Given the description of an element on the screen output the (x, y) to click on. 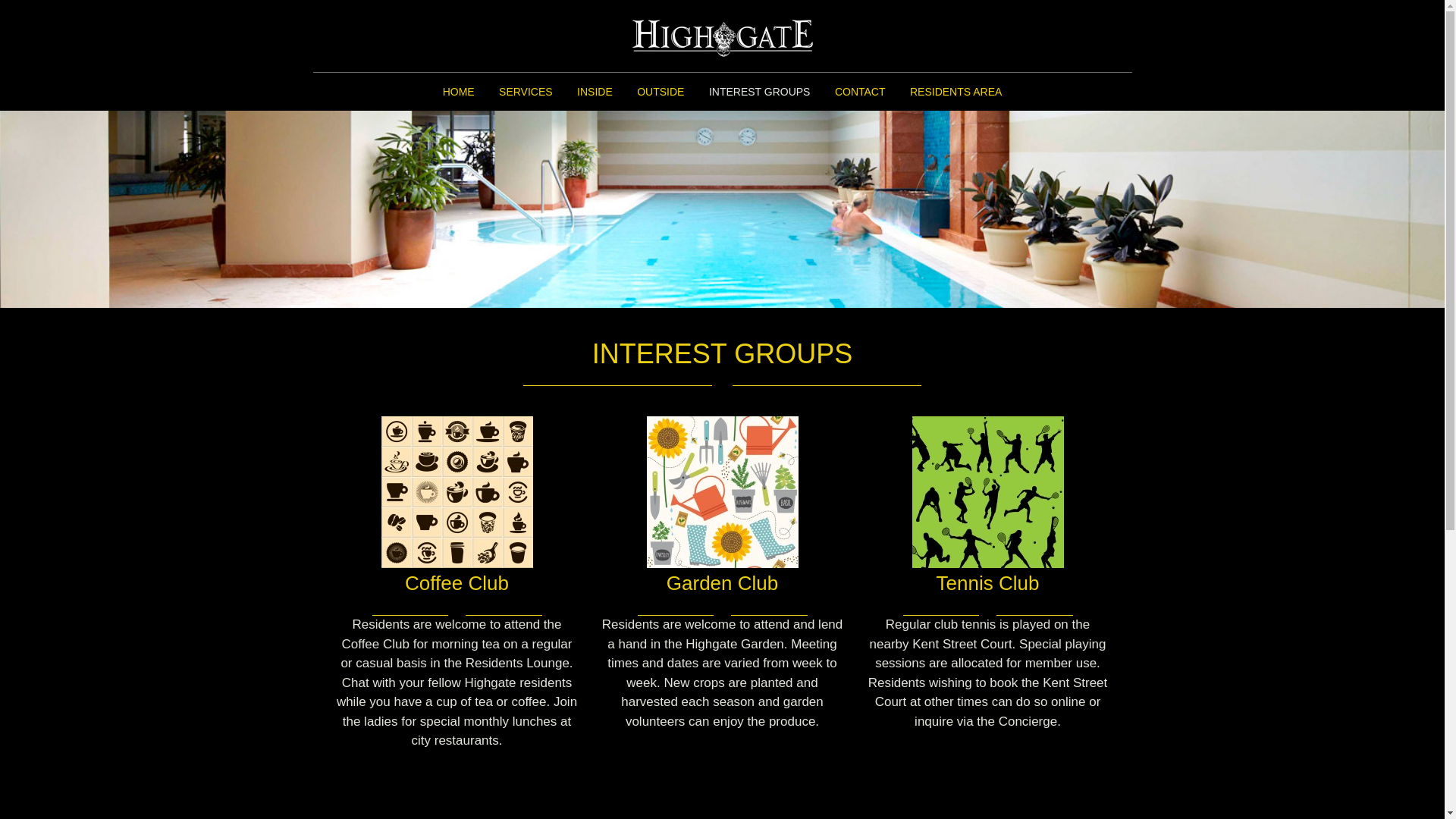
OUTSIDE Element type: text (660, 91)
RESIDENTS AREA Element type: text (955, 91)
INTEREST GROUPS Element type: text (759, 91)
Highgate Element type: hover (721, 36)
SERVICES Element type: text (525, 91)
shutterstock_104054093 Element type: hover (456, 491)
HOME Element type: text (458, 91)
shutterstock_140778634 Element type: hover (721, 491)
tennis Element type: hover (987, 491)
CONTACT Element type: text (860, 91)
INSIDE Element type: text (594, 91)
